Given the description of an element on the screen output the (x, y) to click on. 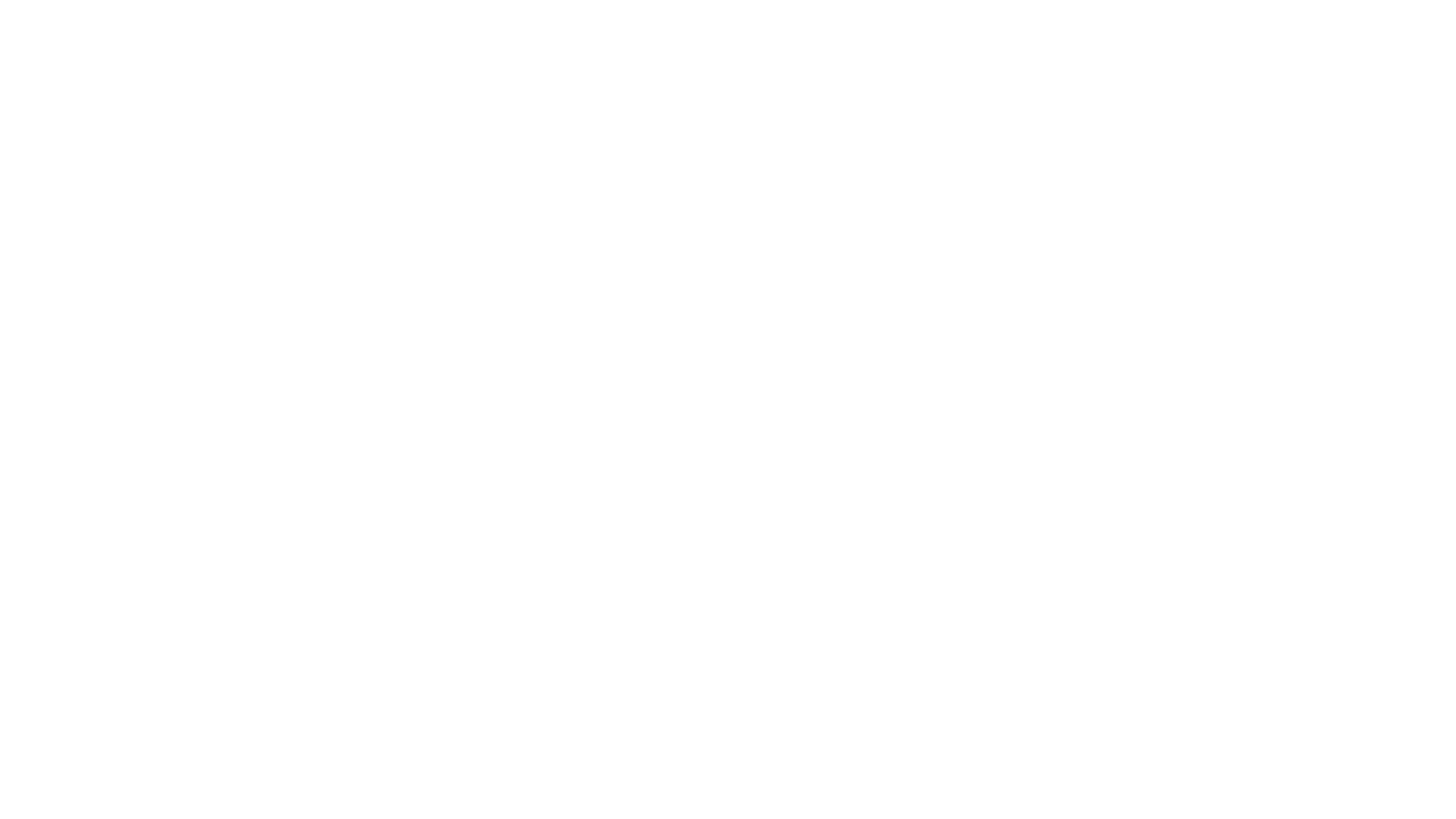
Cloudflare Element type: text (798, 799)
